Given the description of an element on the screen output the (x, y) to click on. 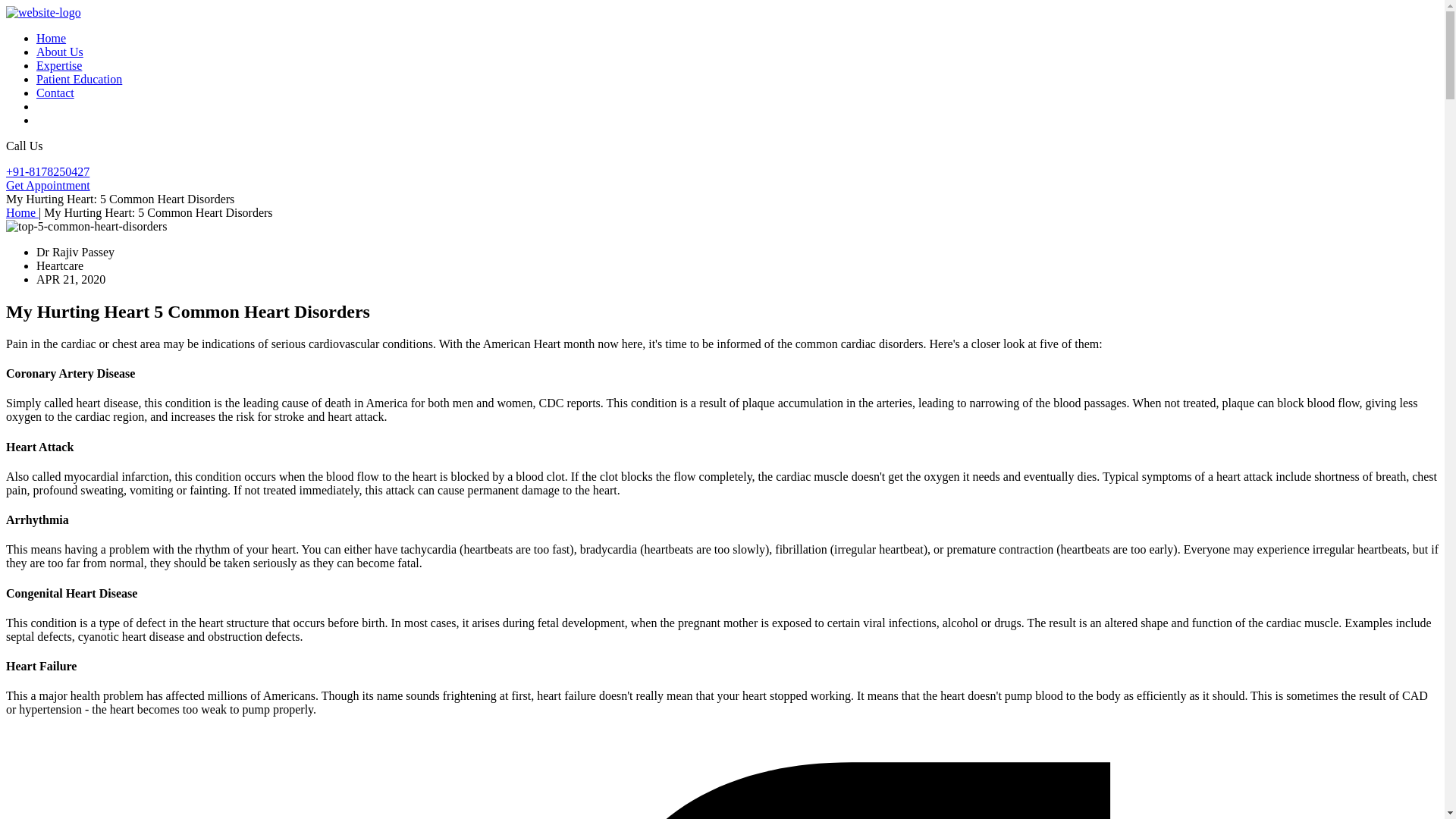
Expertise (58, 65)
Contact (55, 92)
About Us (59, 51)
Home (50, 38)
Home (22, 212)
Get Appointment (47, 185)
patient-education (79, 78)
Patient Education (79, 78)
dr-rajiv-passey (50, 38)
contact-dr-rajiv-passey (55, 92)
expertise (58, 65)
about-us (59, 51)
